Given the description of an element on the screen output the (x, y) to click on. 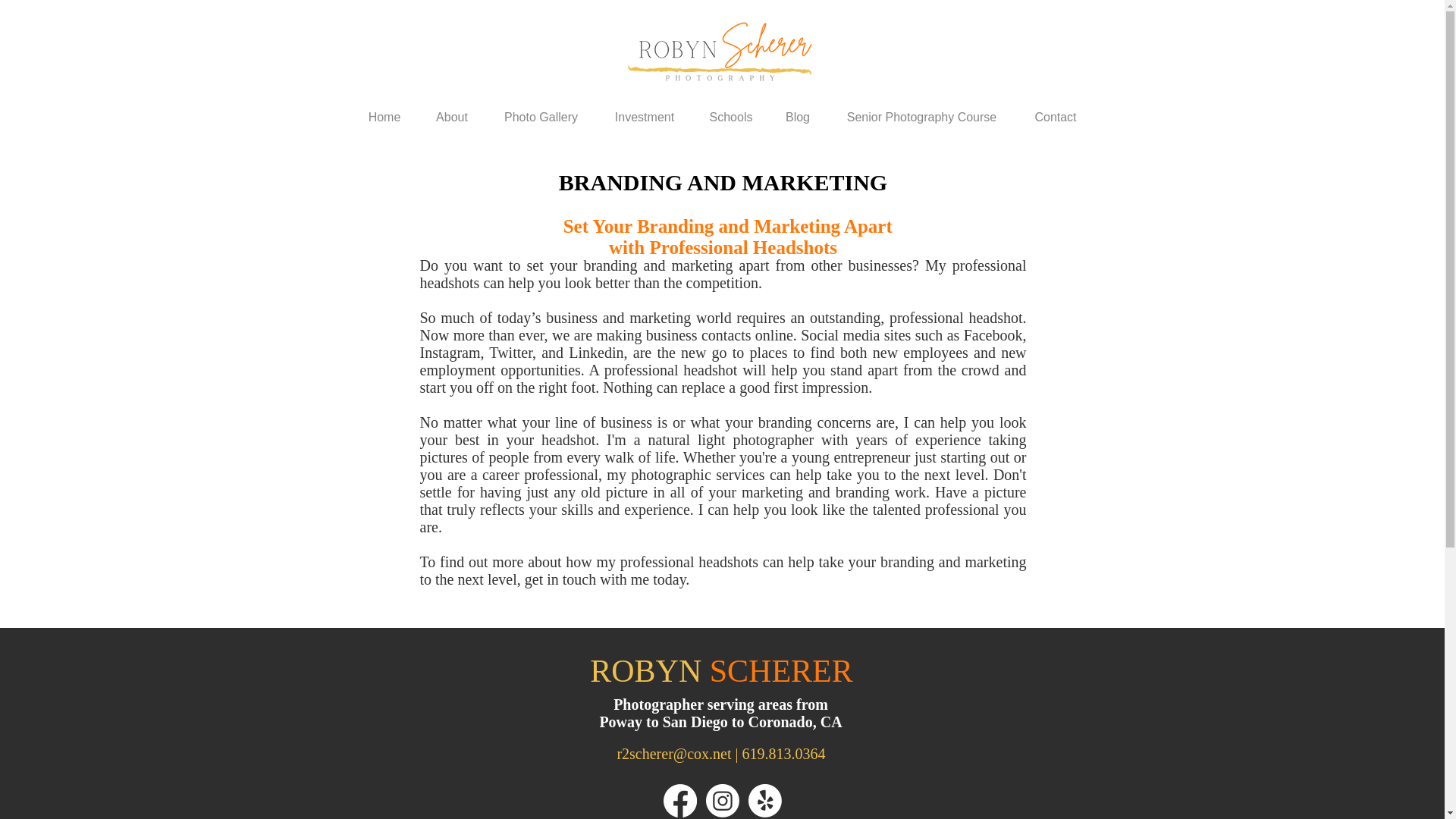
Home (383, 110)
Investment (644, 110)
Blog (796, 110)
About (452, 110)
Senior Photography Course (922, 110)
Contact (1055, 110)
Schools (731, 110)
